Given the description of an element on the screen output the (x, y) to click on. 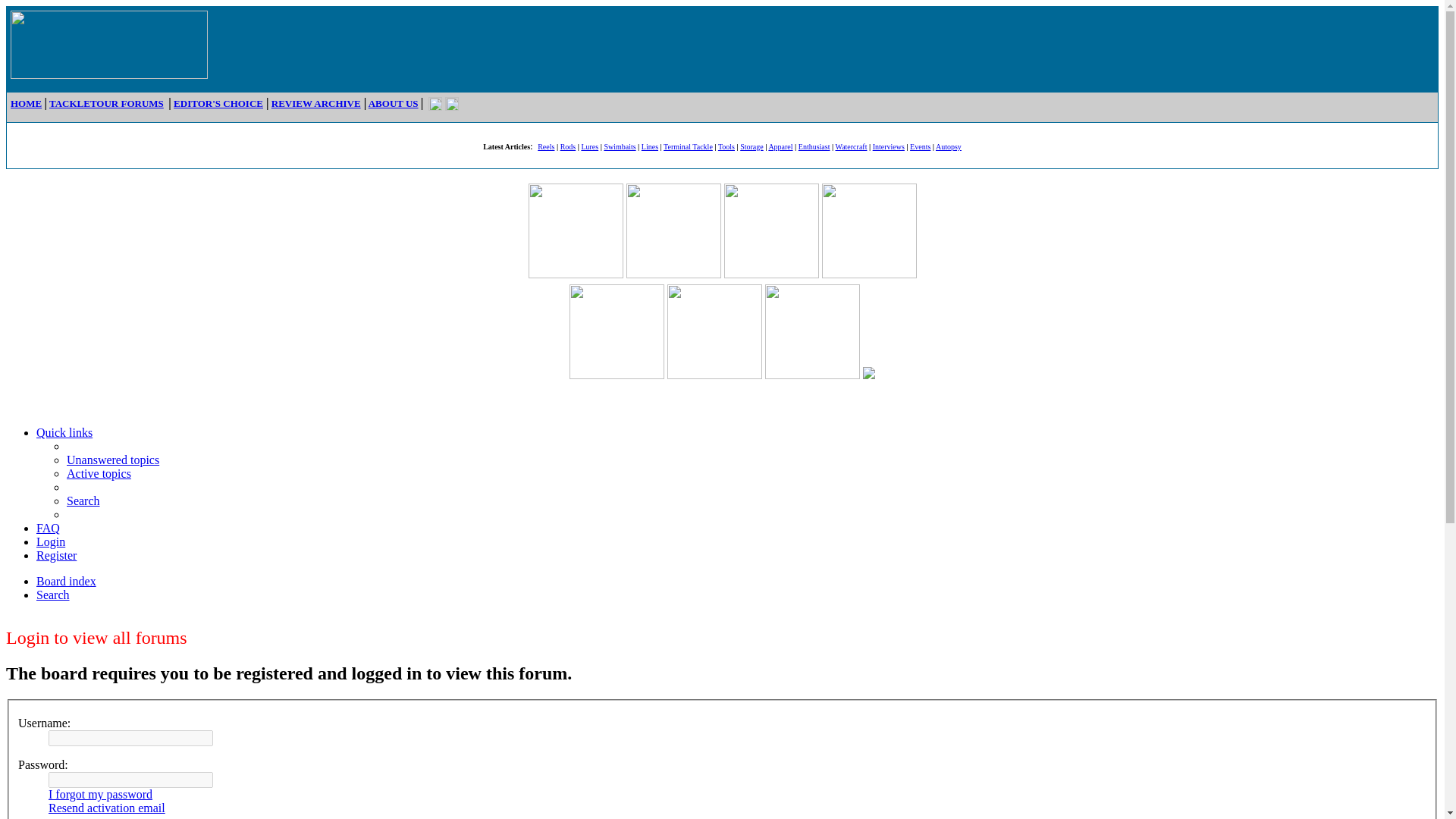
Rods (568, 146)
Search (83, 500)
Unanswered topics (112, 459)
Autopsy (948, 146)
Lures (589, 146)
FAQ (47, 527)
Apparel (780, 146)
Register (56, 554)
Quick links (64, 431)
Events (920, 146)
Login (50, 541)
Interviews (888, 146)
View the advanced search options (52, 594)
Lines (650, 146)
REVIEW ARCHIVE (315, 102)
